Given the description of an element on the screen output the (x, y) to click on. 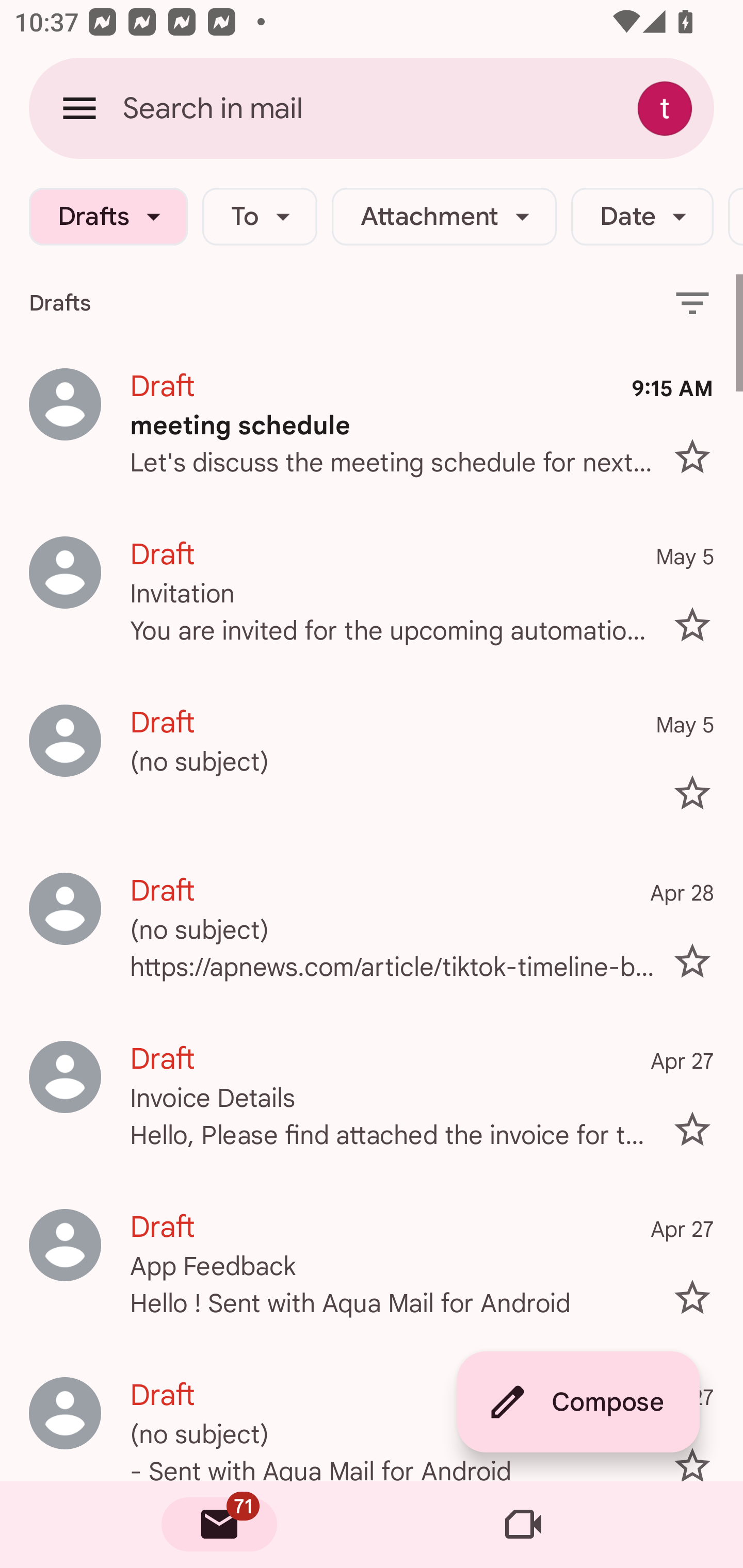
Open navigation drawer (79, 108)
Drafts (107, 217)
To (259, 217)
Attachment (444, 217)
Date (642, 217)
Filter icon (692, 302)
Compose (577, 1401)
Meet (523, 1524)
